Given the description of an element on the screen output the (x, y) to click on. 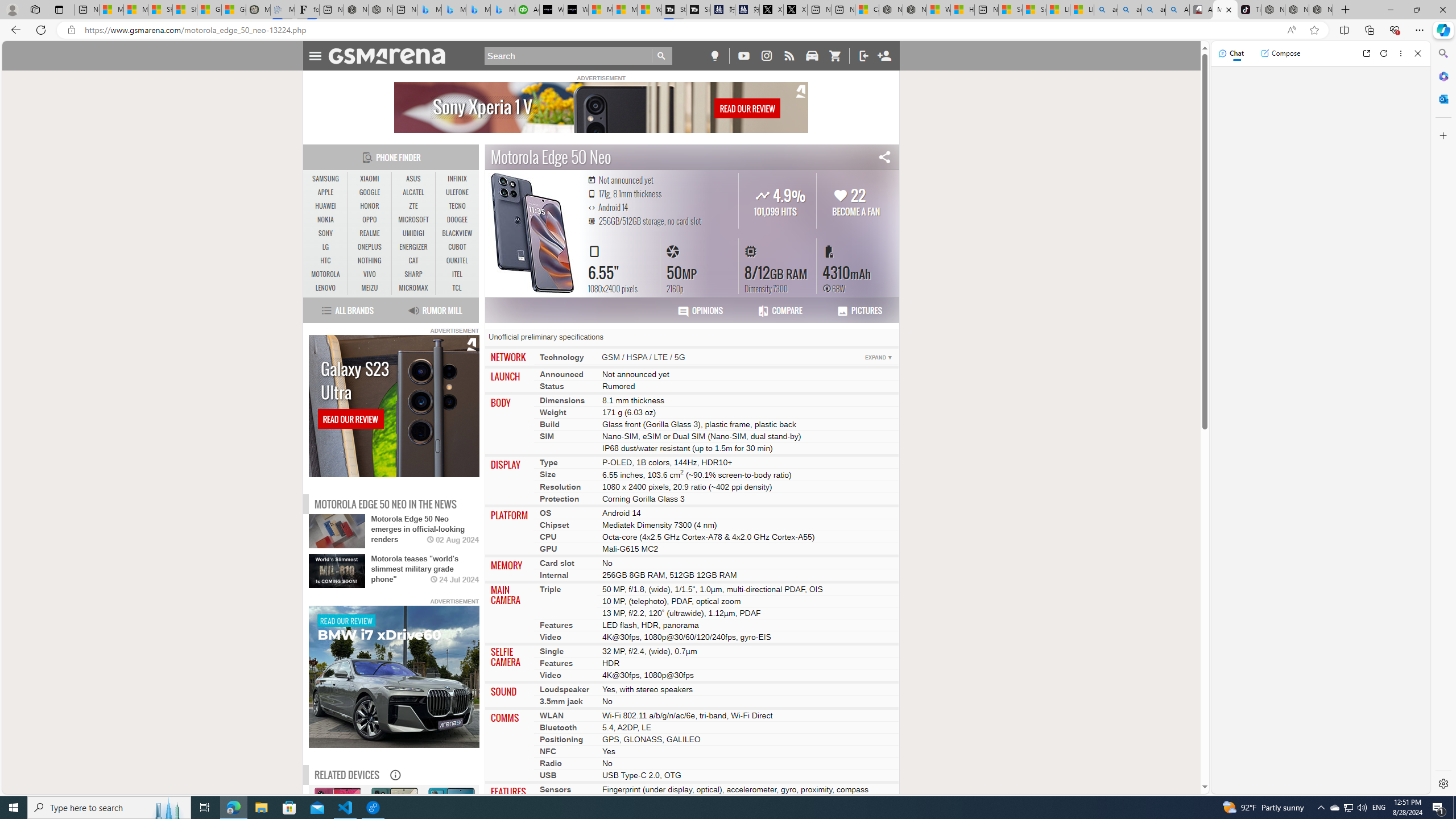
ENERGIZER (413, 246)
NFC (548, 750)
Gilma and Hector both pose tropical trouble for Hawaii (233, 9)
HONOR (369, 206)
MOTOROLA (325, 273)
Dimensions (562, 399)
RELATED DEVICES (347, 775)
Internal (554, 574)
MICROSOFT (413, 219)
